Given the description of an element on the screen output the (x, y) to click on. 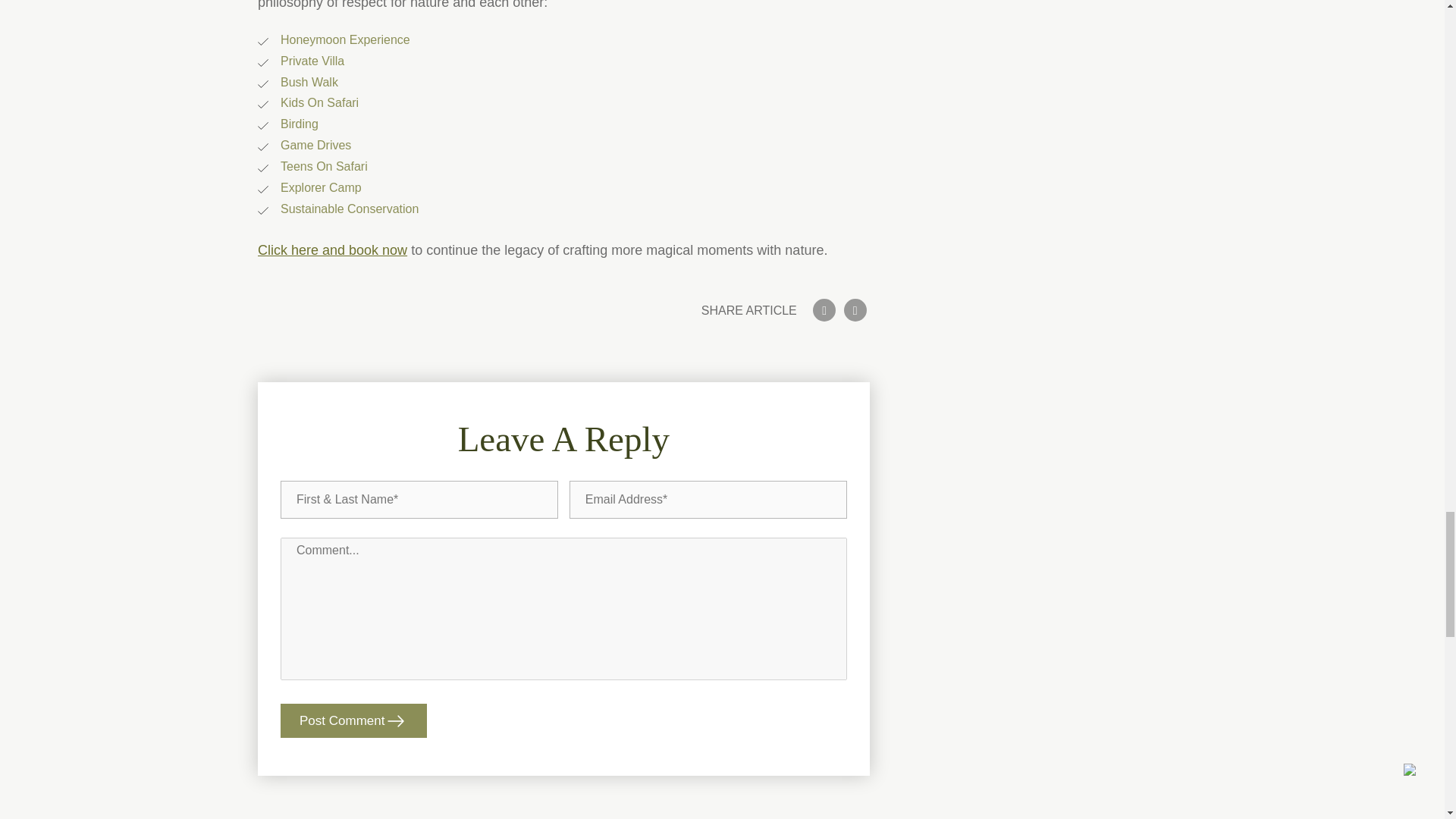
Explorer Camp (321, 187)
Kids On Safari (319, 102)
Teens On Safari (324, 165)
Game Drives (315, 144)
Birding (299, 123)
Sustainable Conservation (350, 208)
Private Villa (312, 60)
Click here and book now (332, 249)
Honeymoon Experience (345, 39)
Post Comment (353, 720)
Bush Walk (309, 82)
